Given the description of an element on the screen output the (x, y) to click on. 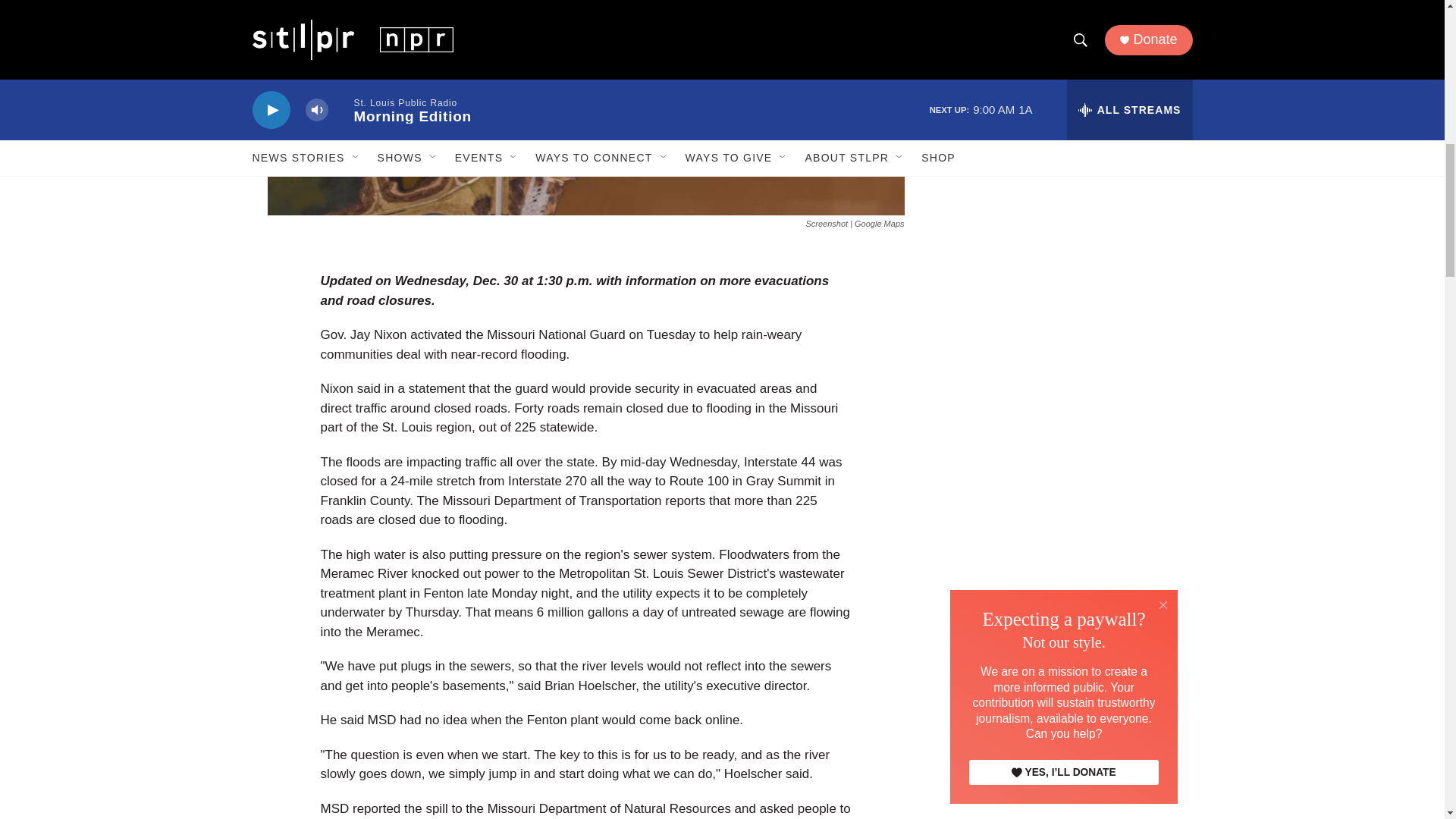
3rd party ad content (1062, 289)
3rd party ad content (1062, 82)
